Given the description of an element on the screen output the (x, y) to click on. 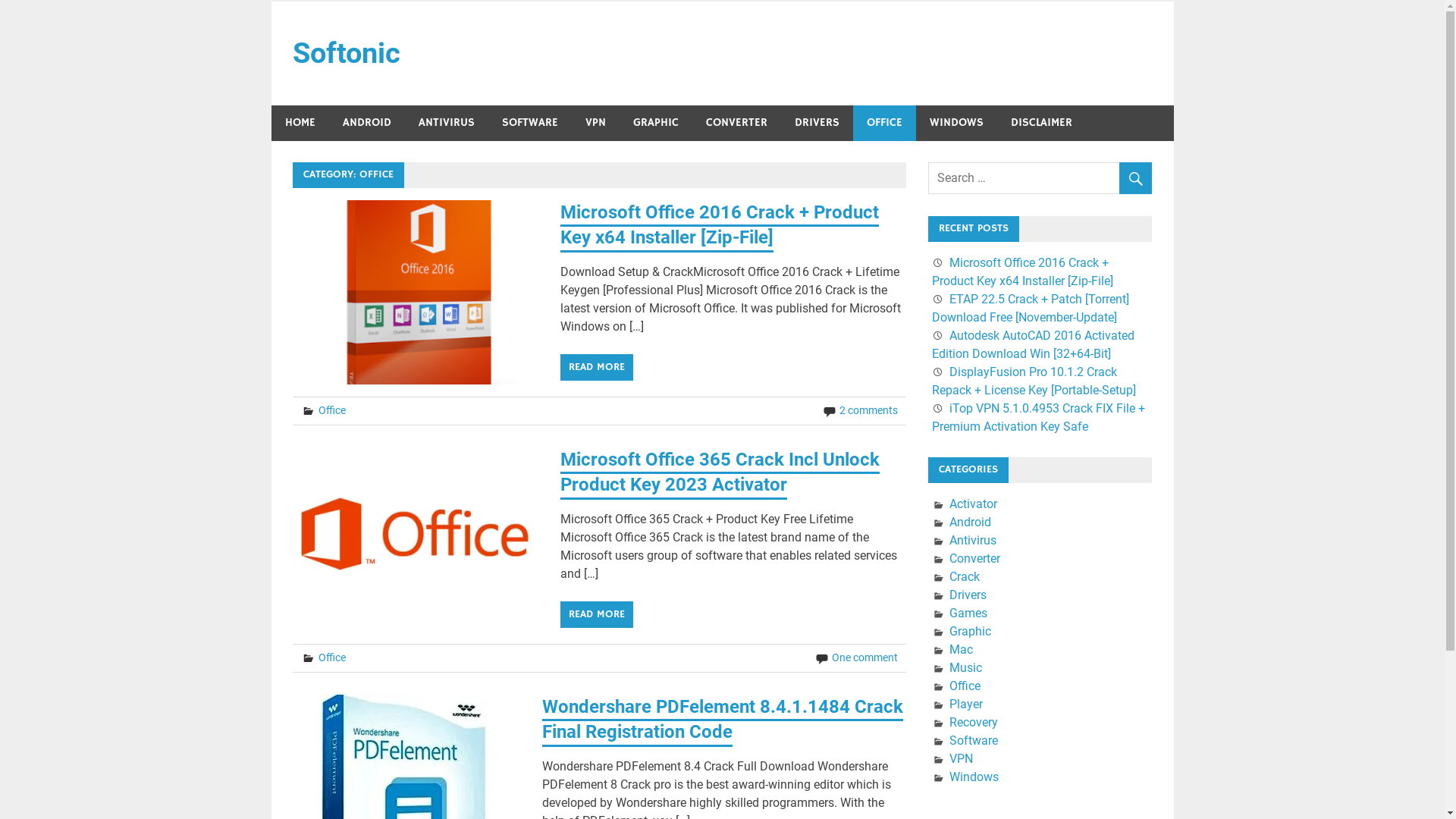
Softonic Element type: text (346, 52)
Antivirus Element type: text (972, 540)
DRIVERS Element type: text (817, 123)
Games Element type: text (968, 612)
Graphic Element type: text (970, 631)
VPN Element type: text (595, 123)
Windows Element type: text (973, 776)
ANDROID Element type: text (366, 123)
SOFTWARE Element type: text (529, 123)
HOME Element type: text (300, 123)
READ MORE Element type: text (596, 367)
Drivers Element type: text (967, 594)
Android Element type: text (970, 521)
Mac Element type: text (960, 649)
READ MORE Element type: text (596, 614)
Player Element type: text (965, 703)
OFFICE Element type: text (883, 123)
Recovery Element type: text (973, 722)
Activator Element type: text (973, 503)
Office Element type: text (331, 410)
DISCLAIMER Element type: text (1040, 123)
Music Element type: text (965, 667)
Office Element type: text (331, 657)
WINDOWS Element type: text (956, 123)
CONVERTER Element type: text (735, 123)
ANTIVIRUS Element type: text (446, 123)
Crack Element type: text (964, 576)
GRAPHIC Element type: text (654, 123)
Converter Element type: text (974, 558)
One comment Element type: text (864, 657)
Software Element type: text (973, 740)
2 comments Element type: text (868, 410)
Office Element type: text (964, 685)
VPN Element type: text (960, 758)
